Given the description of an element on the screen output the (x, y) to click on. 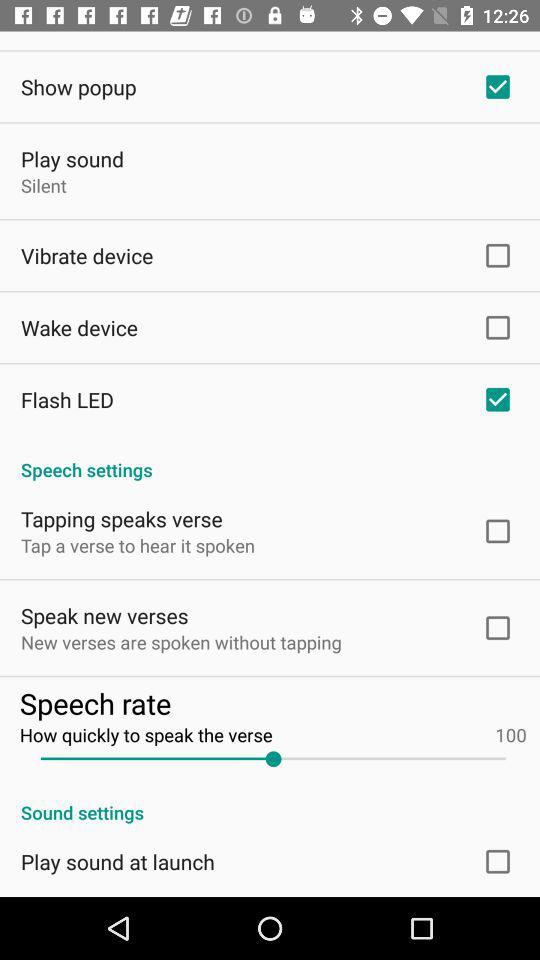
launch app above tapping speaks verse (270, 459)
